Given the description of an element on the screen output the (x, y) to click on. 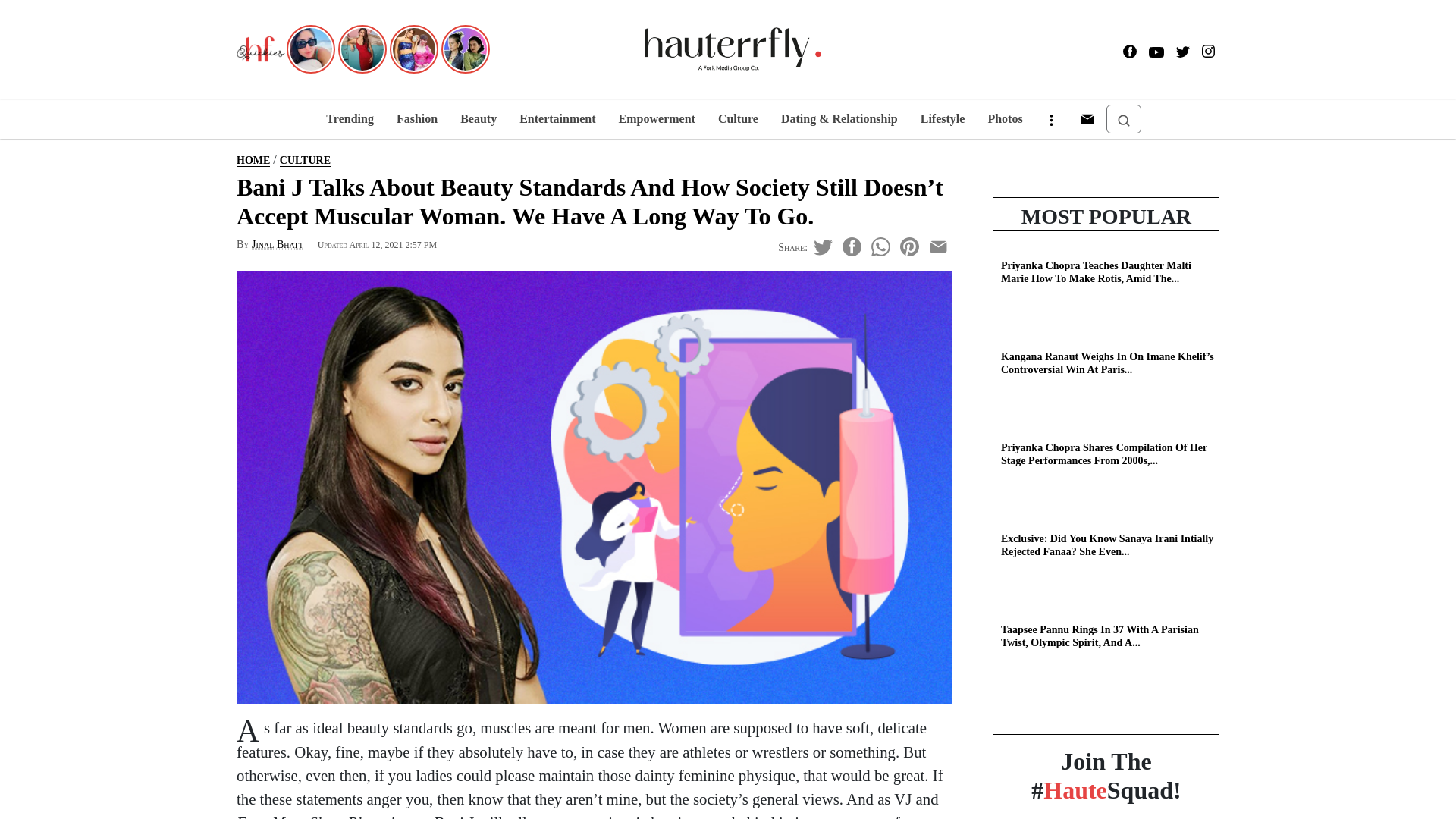
Empowerment (656, 118)
Beauty (478, 118)
facebook (1129, 53)
6 Cool Hairstyles For Short Hair Girlies Ft Tillotama Shome! (465, 47)
HF Quickies (260, 47)
fashion (417, 118)
entertainment (557, 118)
hauterrfly (733, 49)
Culture (737, 118)
